Given the description of an element on the screen output the (x, y) to click on. 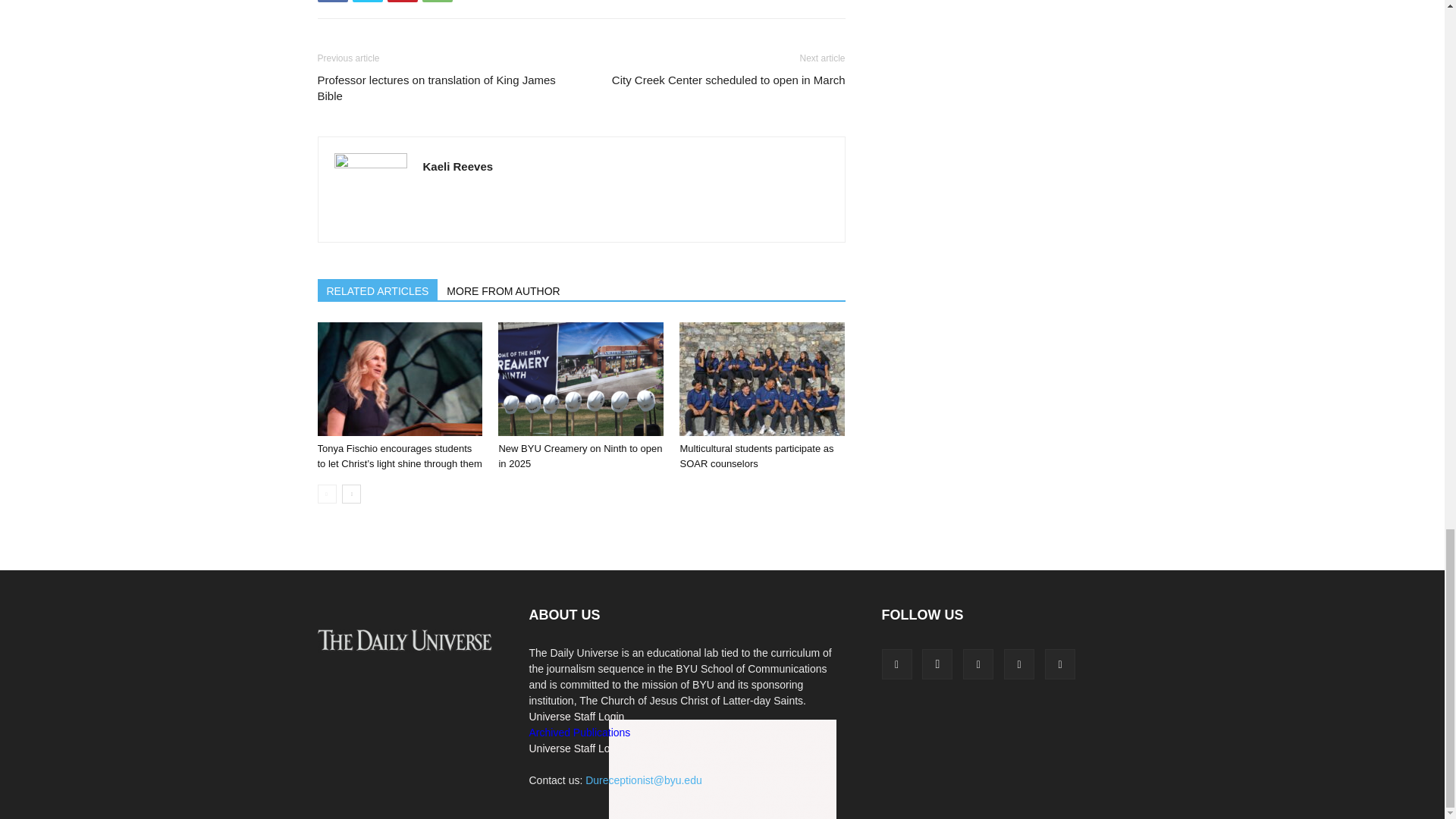
WhatsApp (436, 1)
Pinterest (401, 1)
Twitter (366, 1)
Facebook (332, 1)
